Given the description of an element on the screen output the (x, y) to click on. 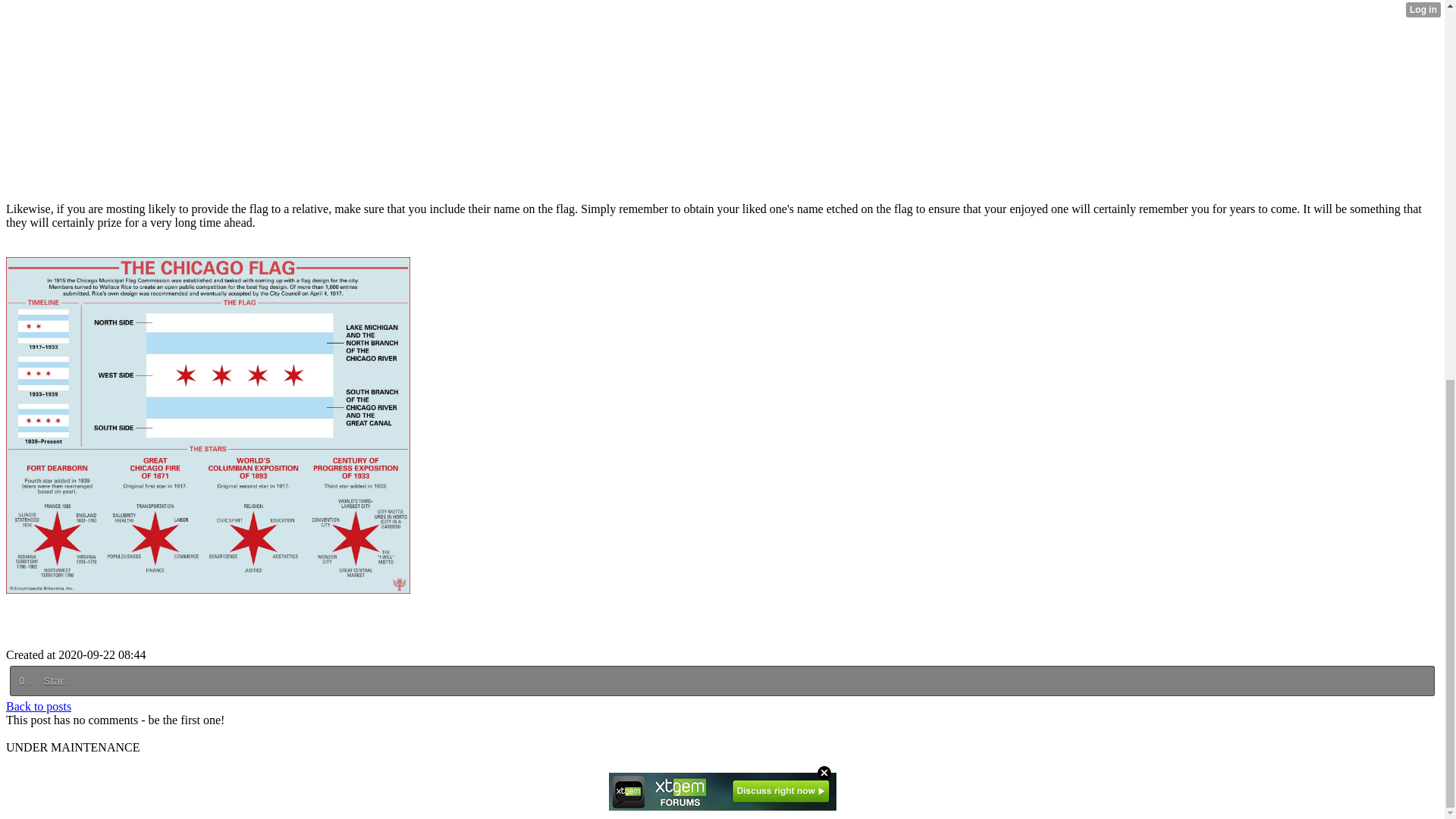
0 (24, 680)
Back to posts (38, 706)
Star (56, 680)
